Given the description of an element on the screen output the (x, y) to click on. 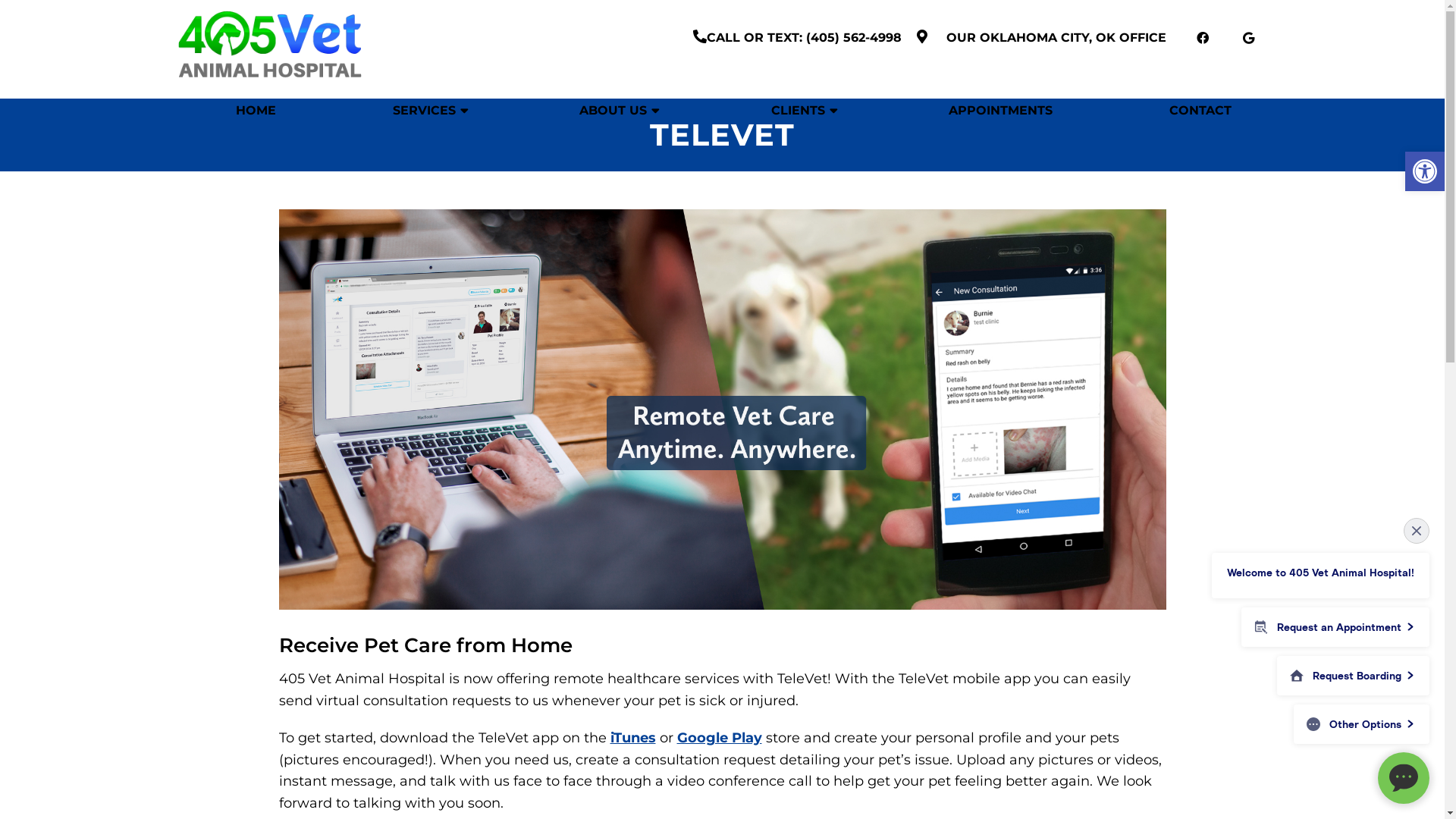
Open toolbar
Accessibility Tools Element type: text (1424, 171)
ABOUT US Element type: text (616, 110)
OUR OKLAHOMA CITY, OK OFFICE Element type: text (1054, 37)
CONTACT Element type: text (1200, 110)
CALL OR TEXT: (405) 562-4998 Element type: text (811, 37)
HOME Element type: text (255, 110)
CLIENTS Element type: text (801, 110)
APPOINTMENTS Element type: text (1000, 110)
Google Play Element type: text (718, 737)
SERVICES Element type: text (427, 110)
iTunes Element type: text (632, 737)
